Given the description of an element on the screen output the (x, y) to click on. 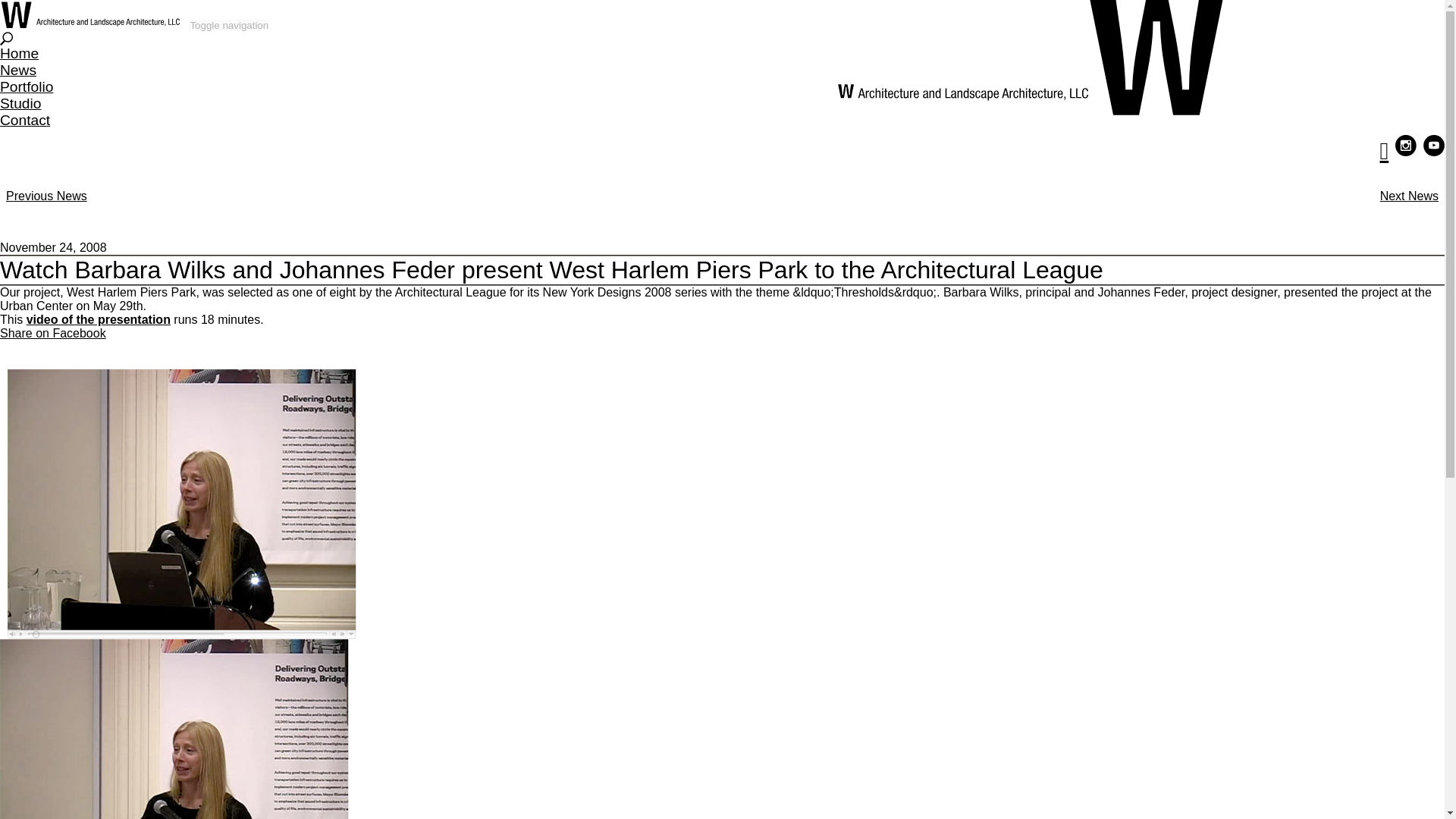
Home (19, 53)
Previous News (46, 195)
Architectural League Video (98, 318)
Next News (1409, 195)
Studio (20, 103)
Toggle navigation (228, 25)
Contact (24, 119)
video of the presentation (98, 318)
Share on Facebook (53, 332)
Portfolio (26, 86)
News (18, 69)
